Given the description of an element on the screen output the (x, y) to click on. 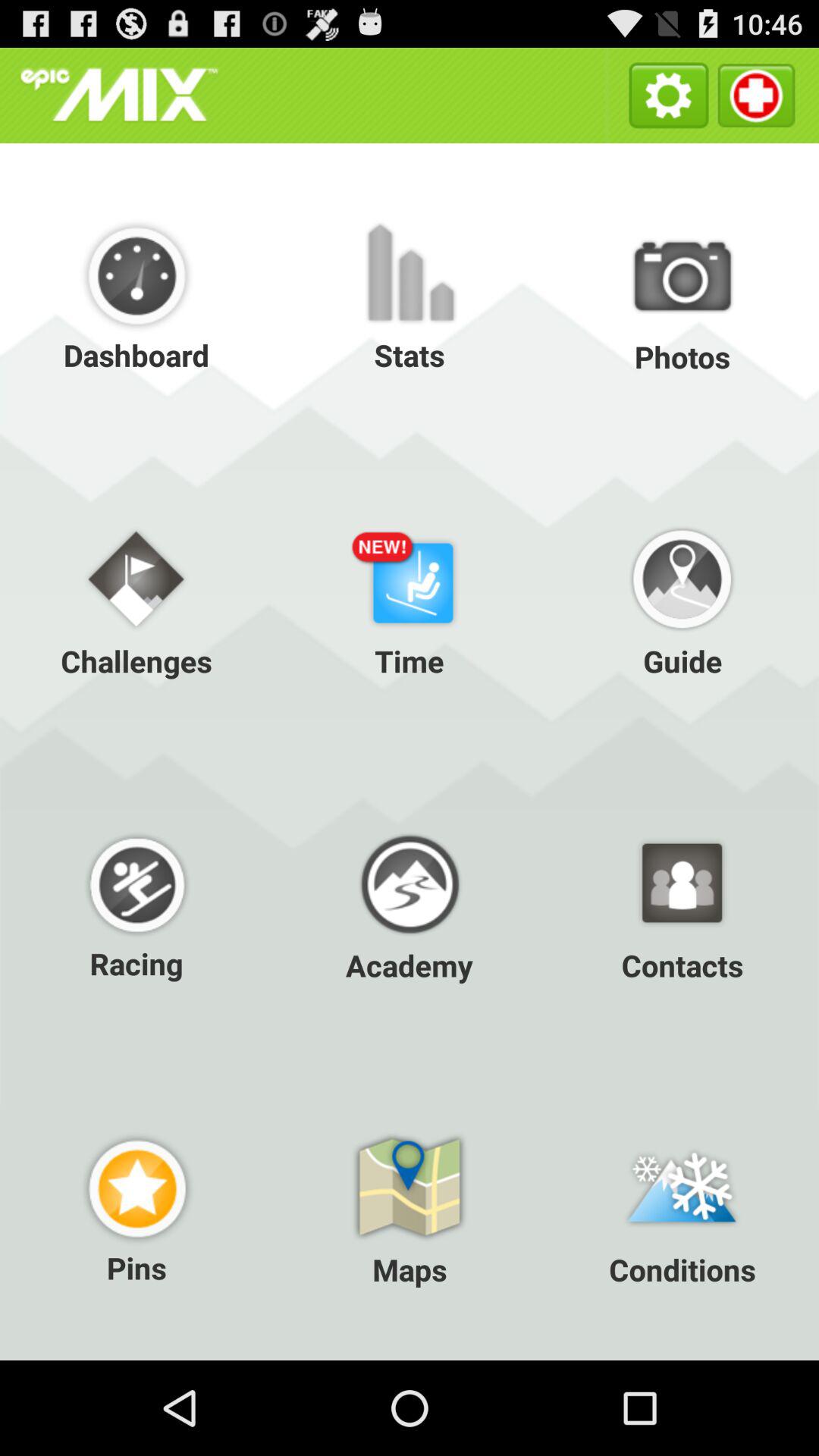
turn on the button next to the dashboard (409, 295)
